Given the description of an element on the screen output the (x, y) to click on. 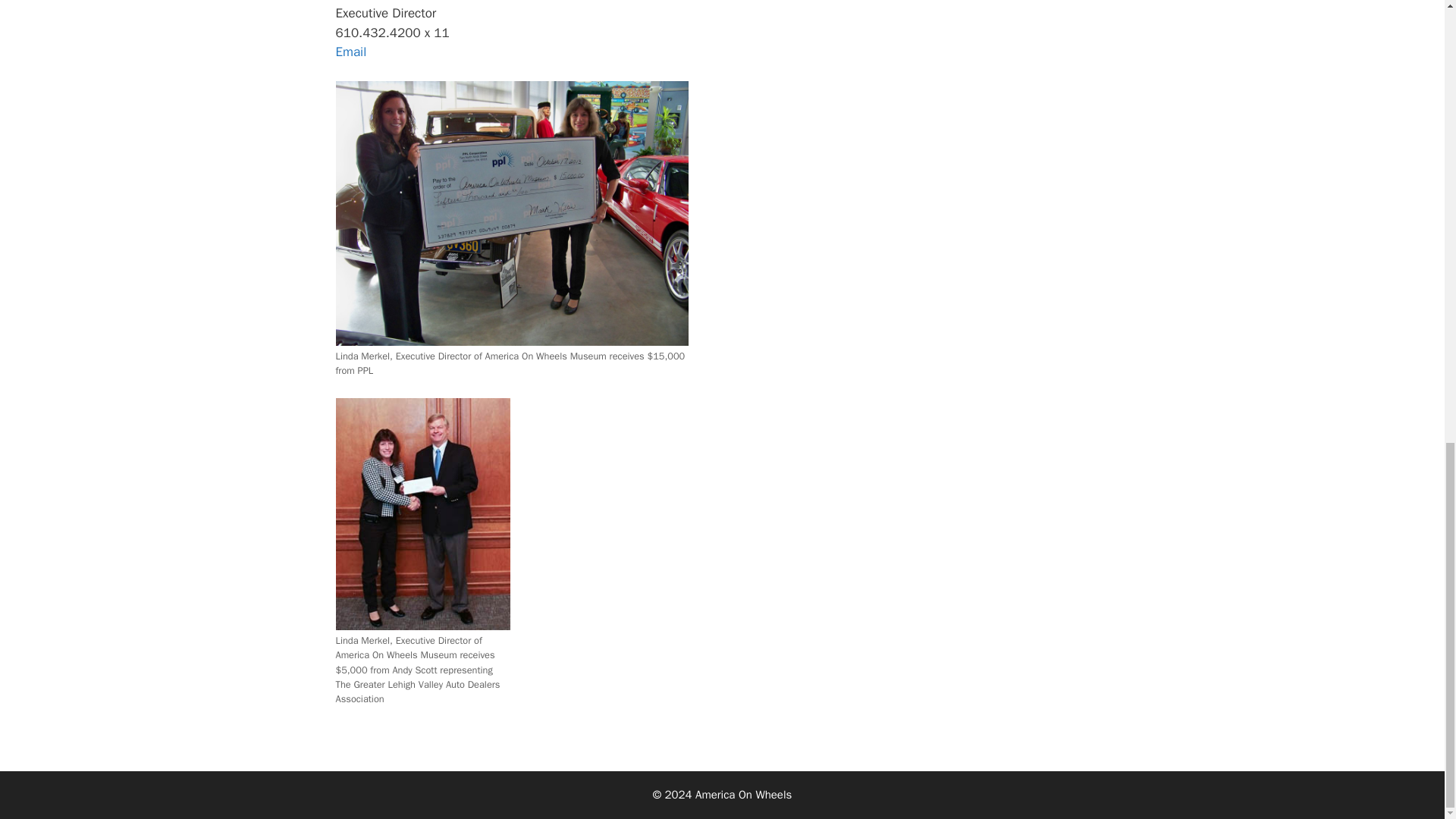
Contact (350, 51)
